Given the description of an element on the screen output the (x, y) to click on. 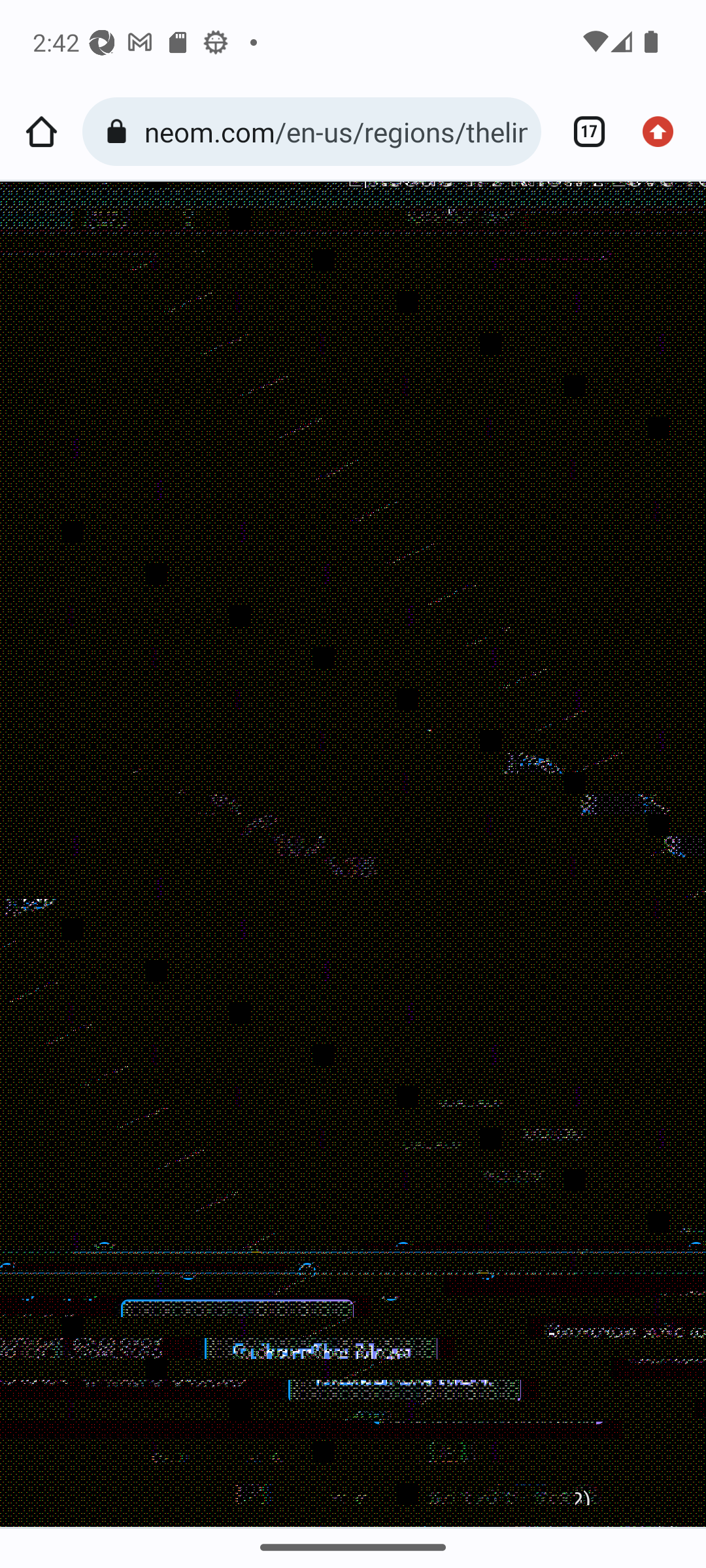
Home (41, 131)
Connection is secure (120, 131)
Switch or close tabs (582, 131)
Update available. More options (664, 131)
